Given the description of an element on the screen output the (x, y) to click on. 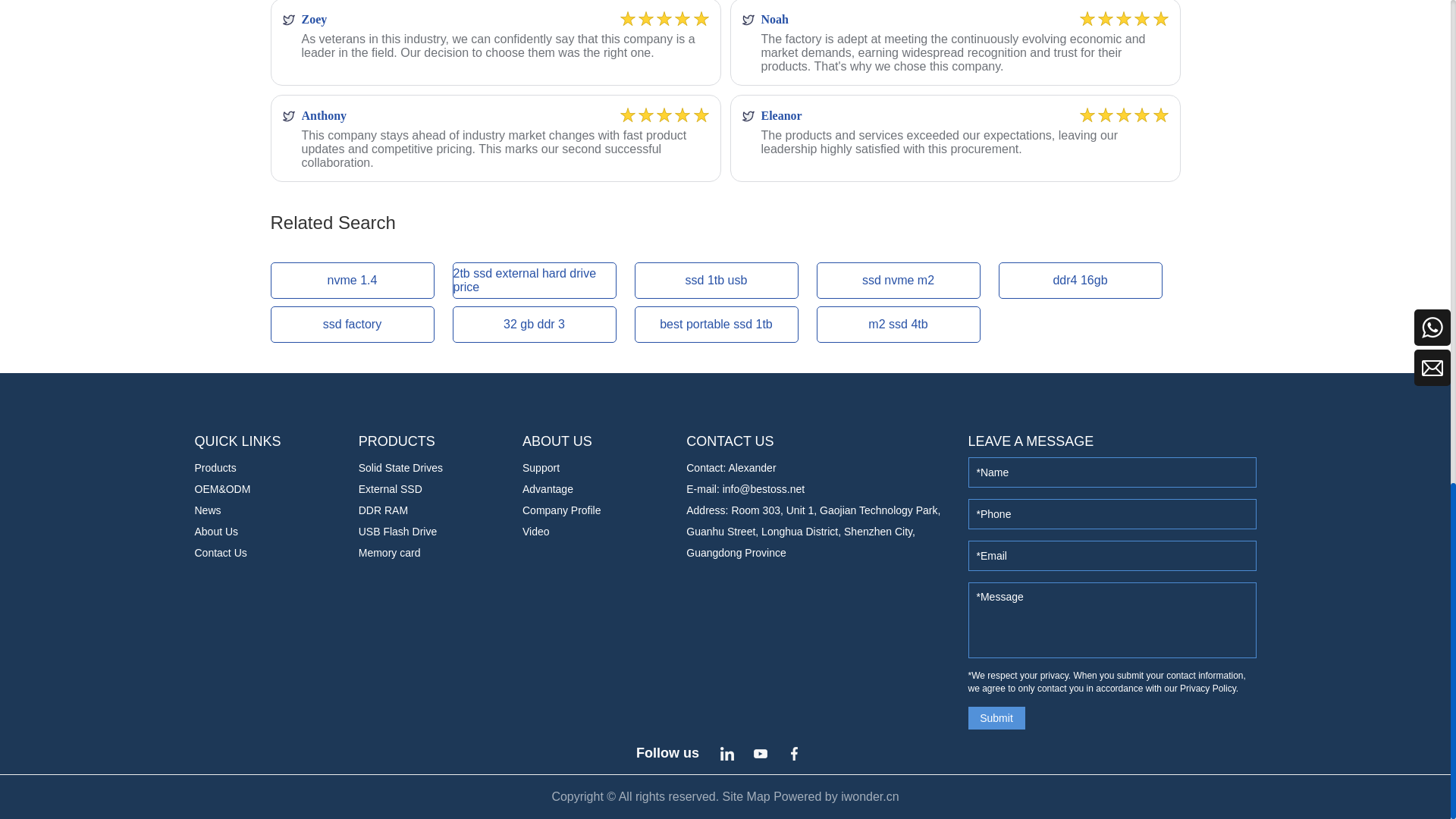
Submit (996, 717)
